Given the description of an element on the screen output the (x, y) to click on. 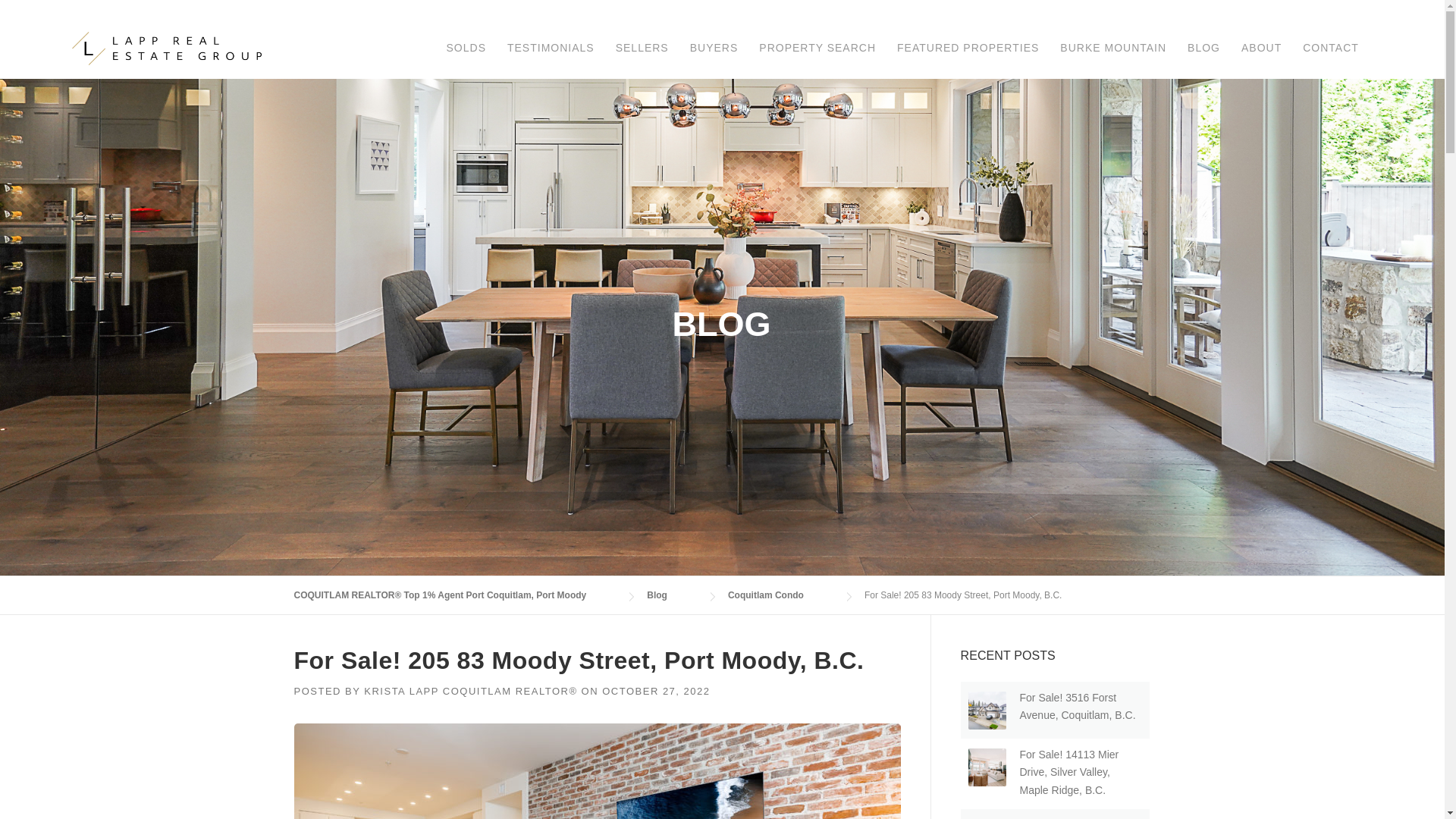
Skip to content (34, 27)
Go to the Coquitlam Condo category archives. (781, 594)
Go to Blog. (671, 594)
PROPERTY SEARCH (817, 47)
TESTIMONIALS (550, 47)
FEATURED PROPERTIES (967, 47)
SOLDS (465, 47)
BURKE MOUNTAIN (1112, 47)
SELLERS (642, 47)
CONTACT (1331, 47)
Coquitlam Condo (781, 594)
ABOUT (1261, 47)
BLOG (1203, 47)
Blog (671, 594)
BUYERS (714, 47)
